Given the description of an element on the screen output the (x, y) to click on. 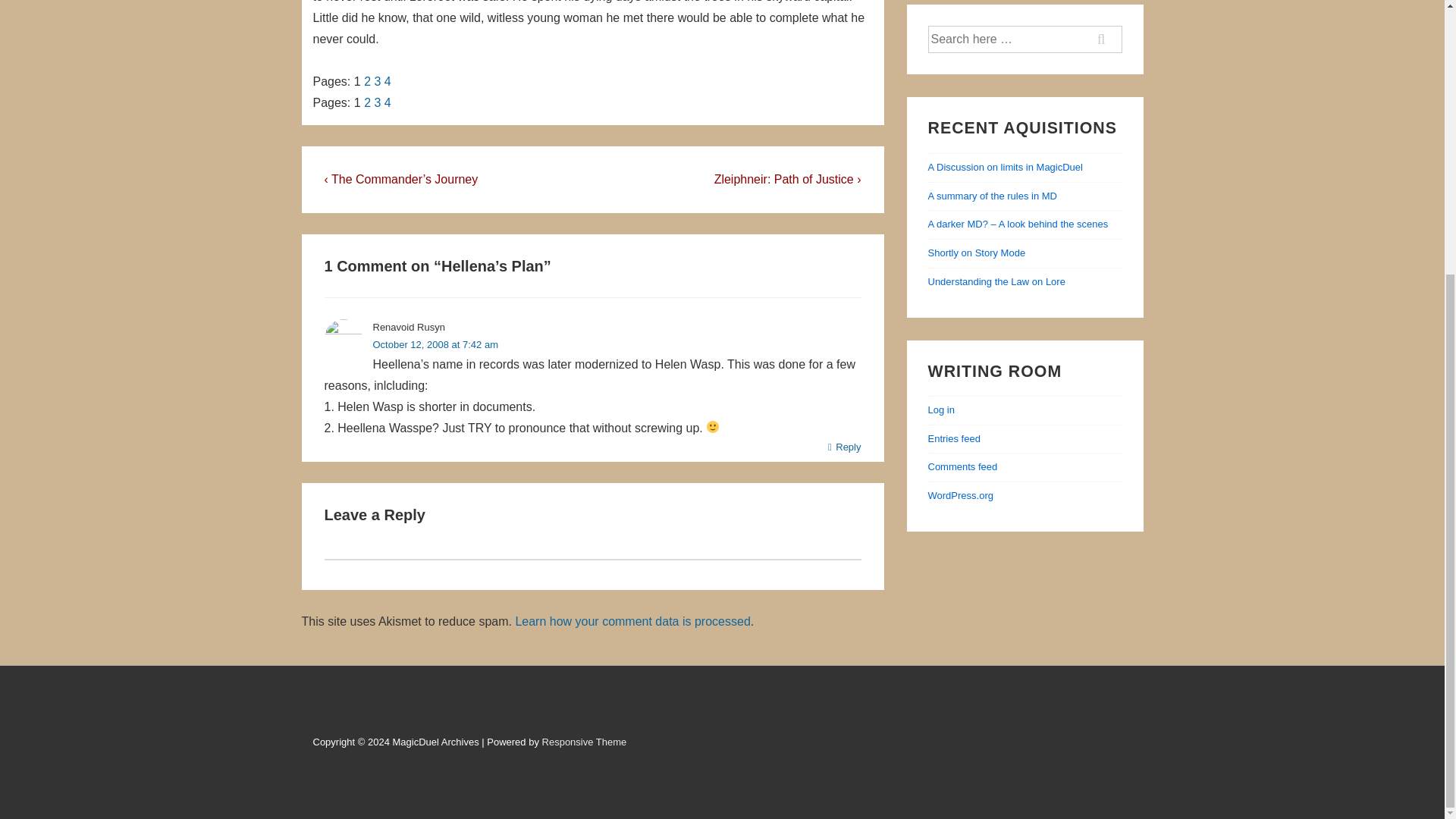
Comments feed (962, 466)
Shortly on Story Mode (977, 252)
Entries feed (953, 438)
Understanding the Law on Lore (996, 281)
Responsive Theme (584, 741)
Reply (844, 447)
October 12, 2008 at 7:42 am (435, 344)
Log in (941, 409)
Learn how your comment data is processed (632, 621)
A summary of the rules in MD (993, 195)
A Discussion on limits in MagicDuel (1005, 166)
WordPress.org (960, 495)
